Given the description of an element on the screen output the (x, y) to click on. 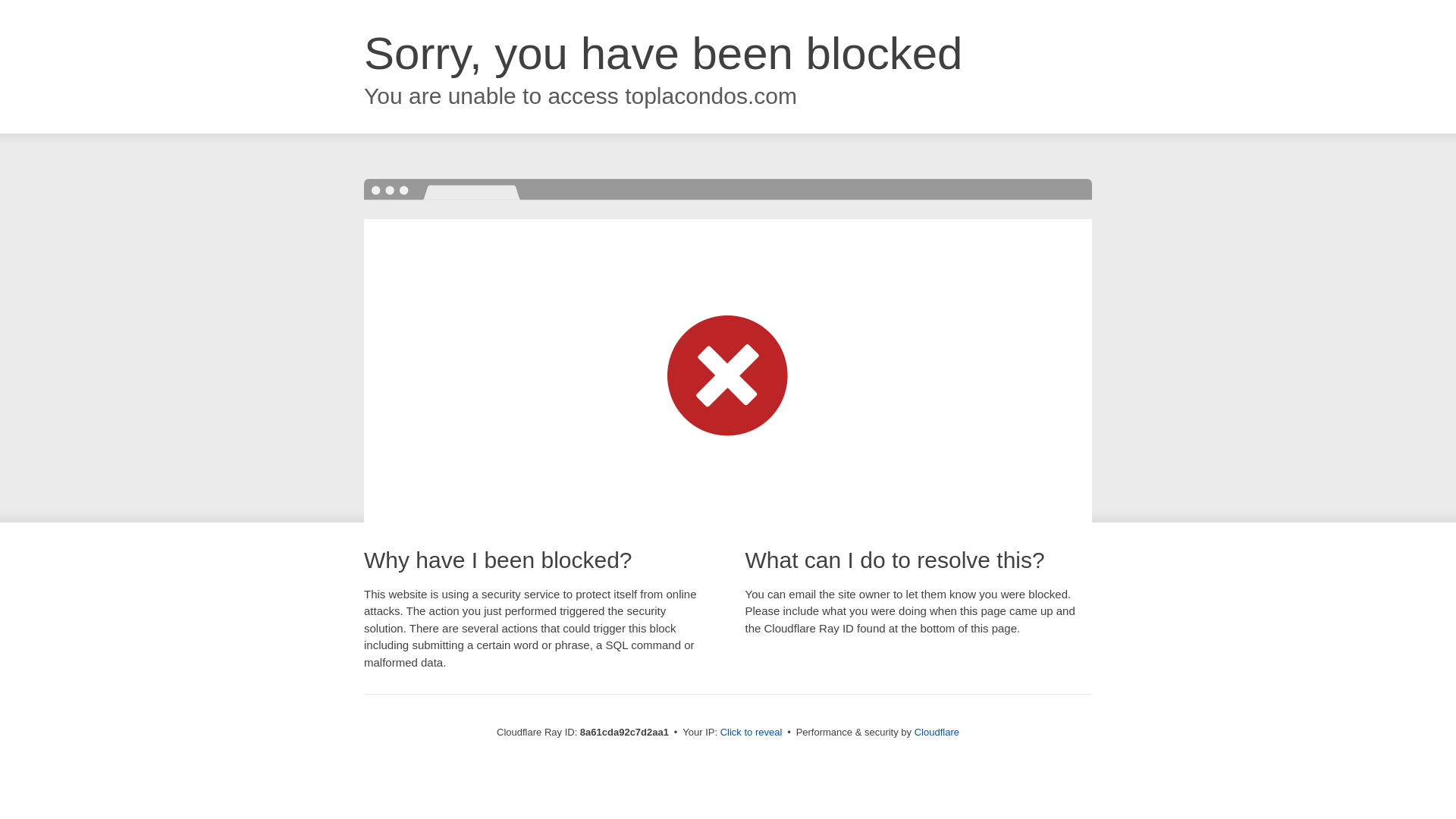
Click to reveal (751, 732)
Cloudflare (936, 731)
